Given the description of an element on the screen output the (x, y) to click on. 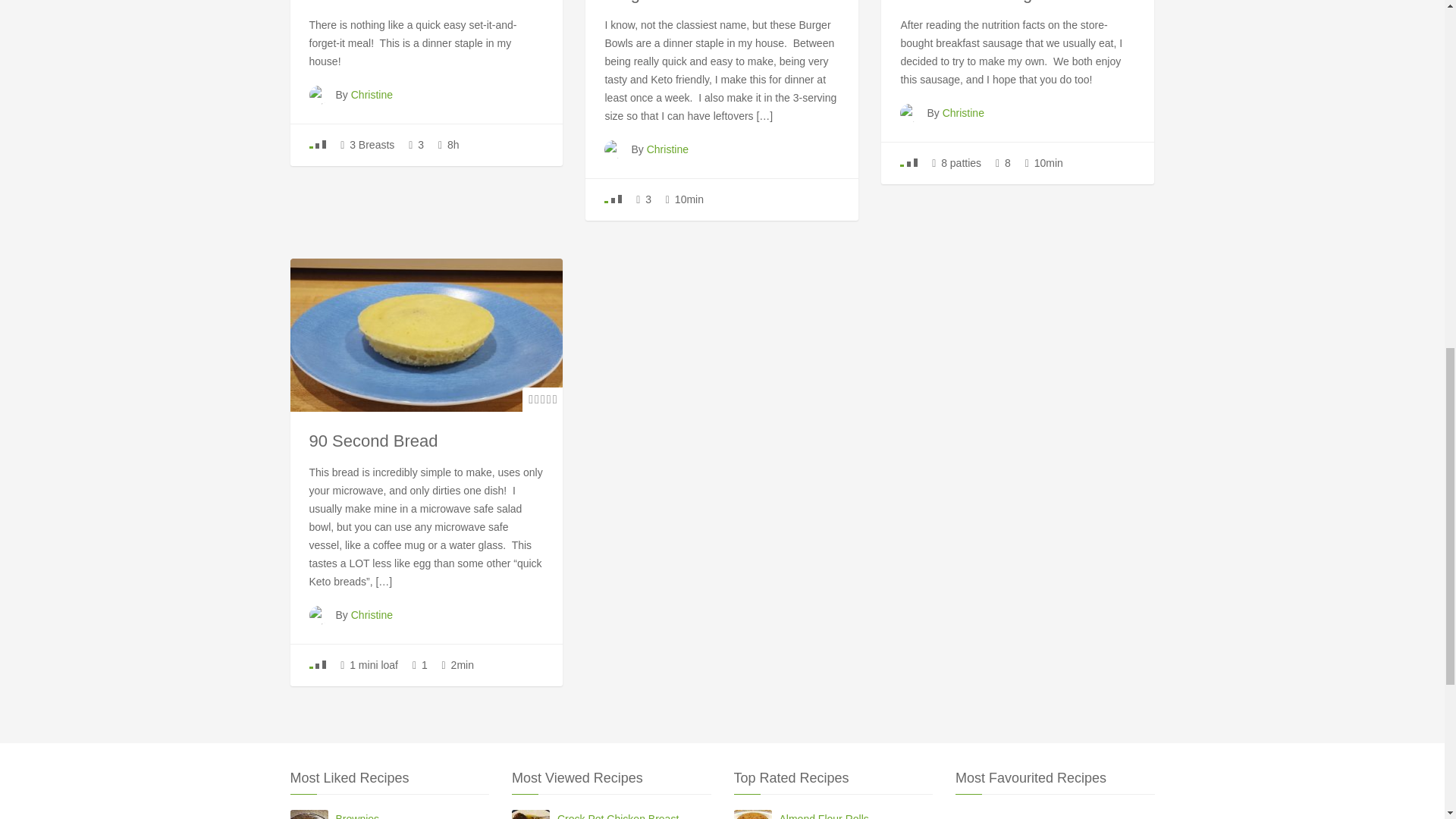
Christine (371, 94)
Christine (963, 112)
Christine (371, 614)
Burger Bowls (653, 2)
90 Second Bread (373, 441)
Christine (667, 149)
Crock Pot Chicken Breast (634, 814)
Brownies (411, 814)
Crock Pot Chicken Breast (404, 2)
Breakfast Sausage (970, 2)
